Given the description of an element on the screen output the (x, y) to click on. 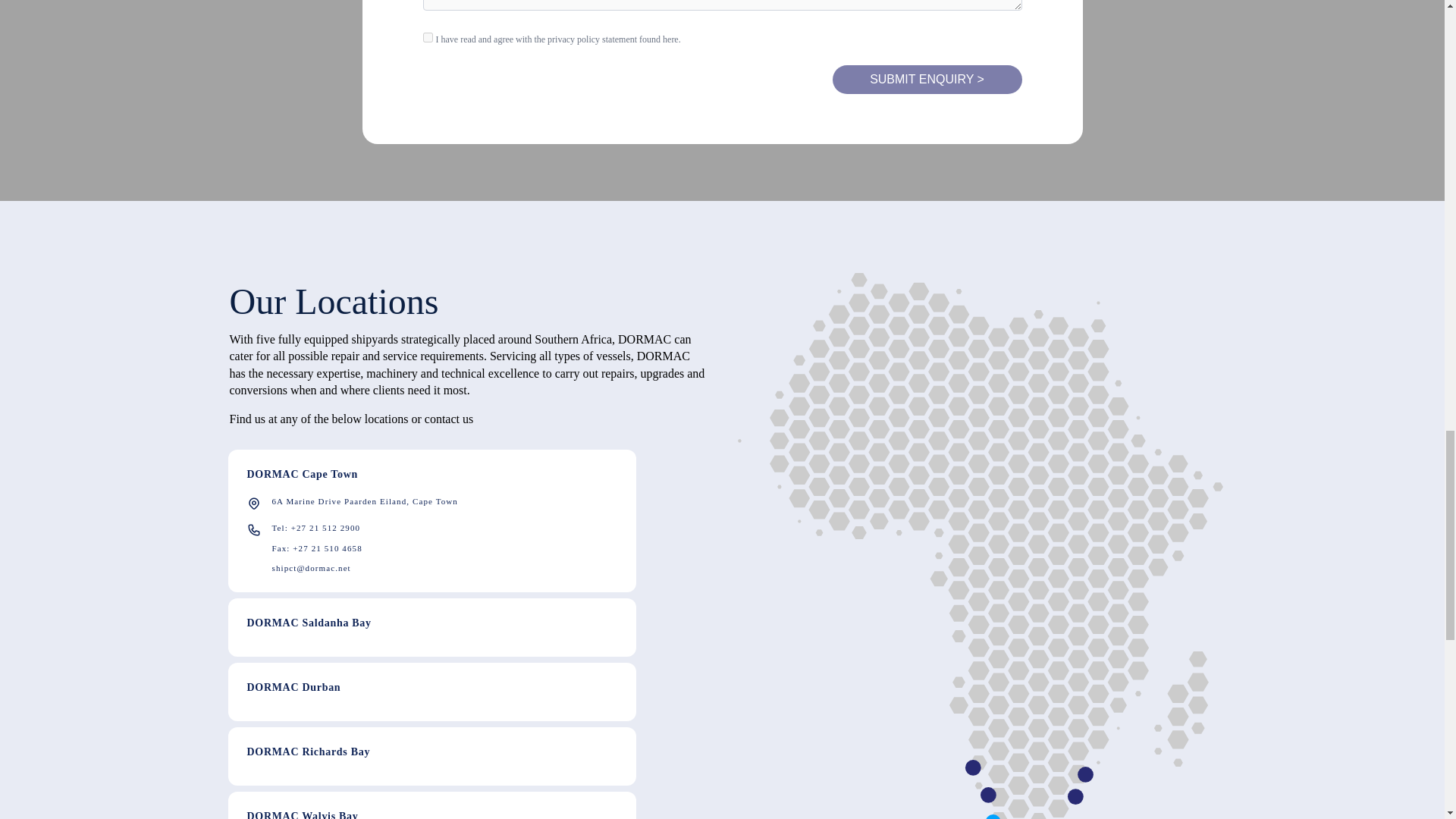
1 (427, 37)
